Given the description of an element on the screen output the (x, y) to click on. 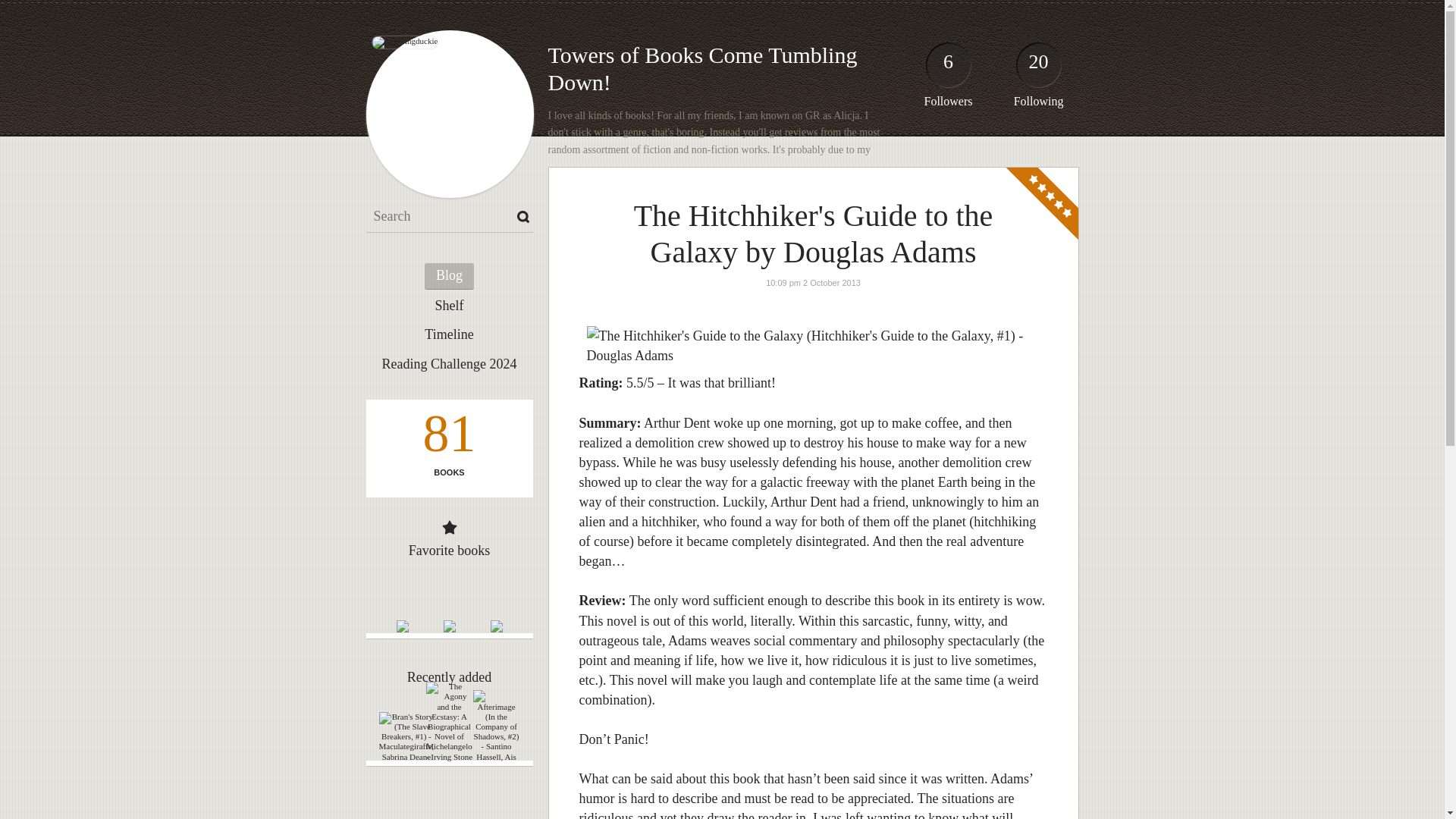
BOOKS (448, 472)
Recently added (449, 676)
Shelf (448, 306)
Reading Challenge 2024 (449, 364)
The Hitchhiker's Guide to the Galaxy by Douglas Adams (812, 234)
81 (448, 437)
Blog (449, 275)
6 (947, 67)
Timeline (448, 335)
Favorite books (449, 549)
20 (1038, 67)
10:09 pm 2 October 2013 (812, 282)
Towers of Books Come Tumbling Down! (702, 68)
